Given the description of an element on the screen output the (x, y) to click on. 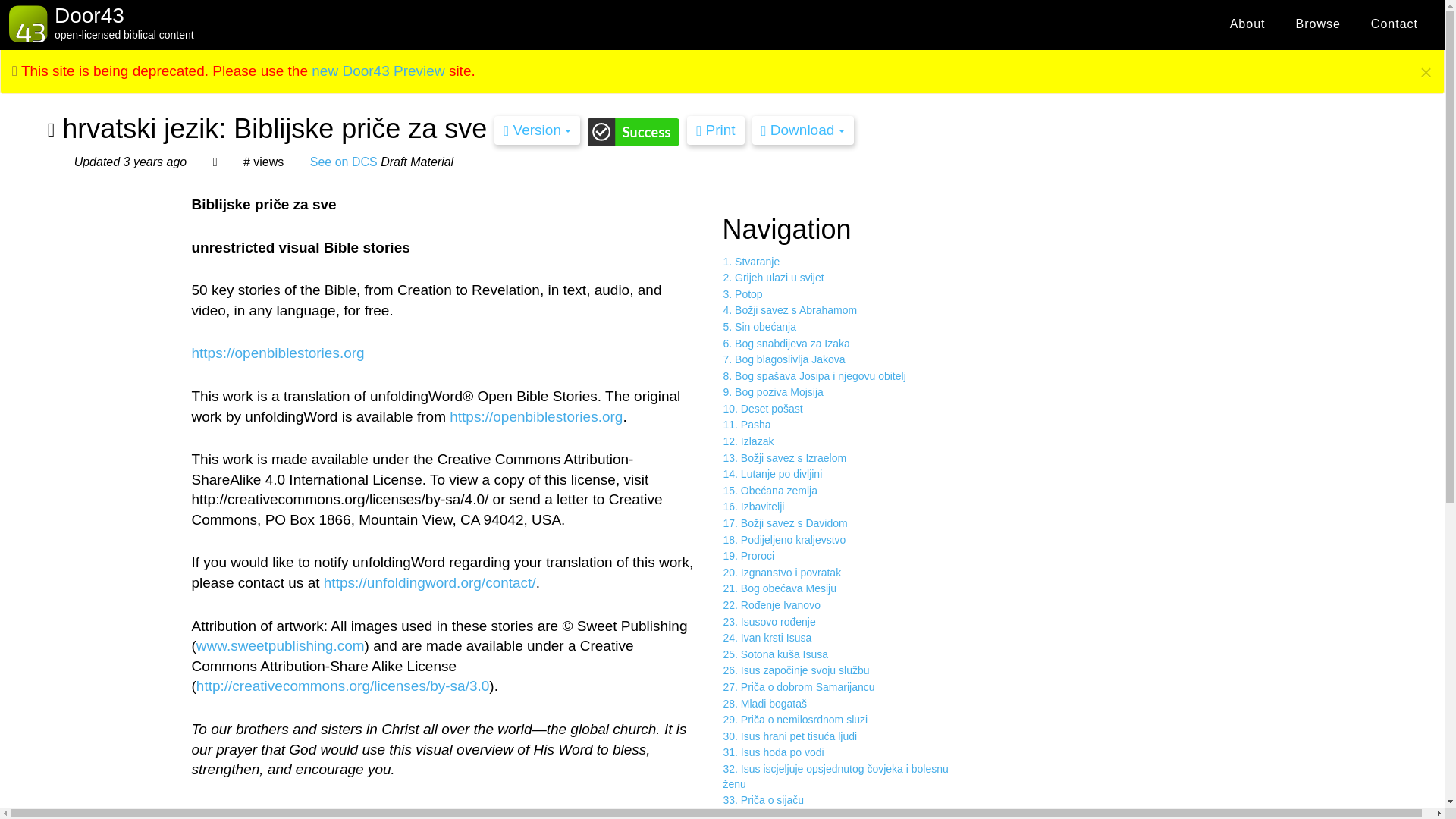
Browse (1317, 23)
Version (537, 130)
Contact (1393, 23)
Download (802, 130)
www.sweetpublishing.com (280, 645)
See on DCS (343, 161)
3. Potop (847, 294)
16. Izbavitelji (847, 507)
9. Bog poziva Mojsija (847, 392)
Print (715, 130)
